Given the description of an element on the screen output the (x, y) to click on. 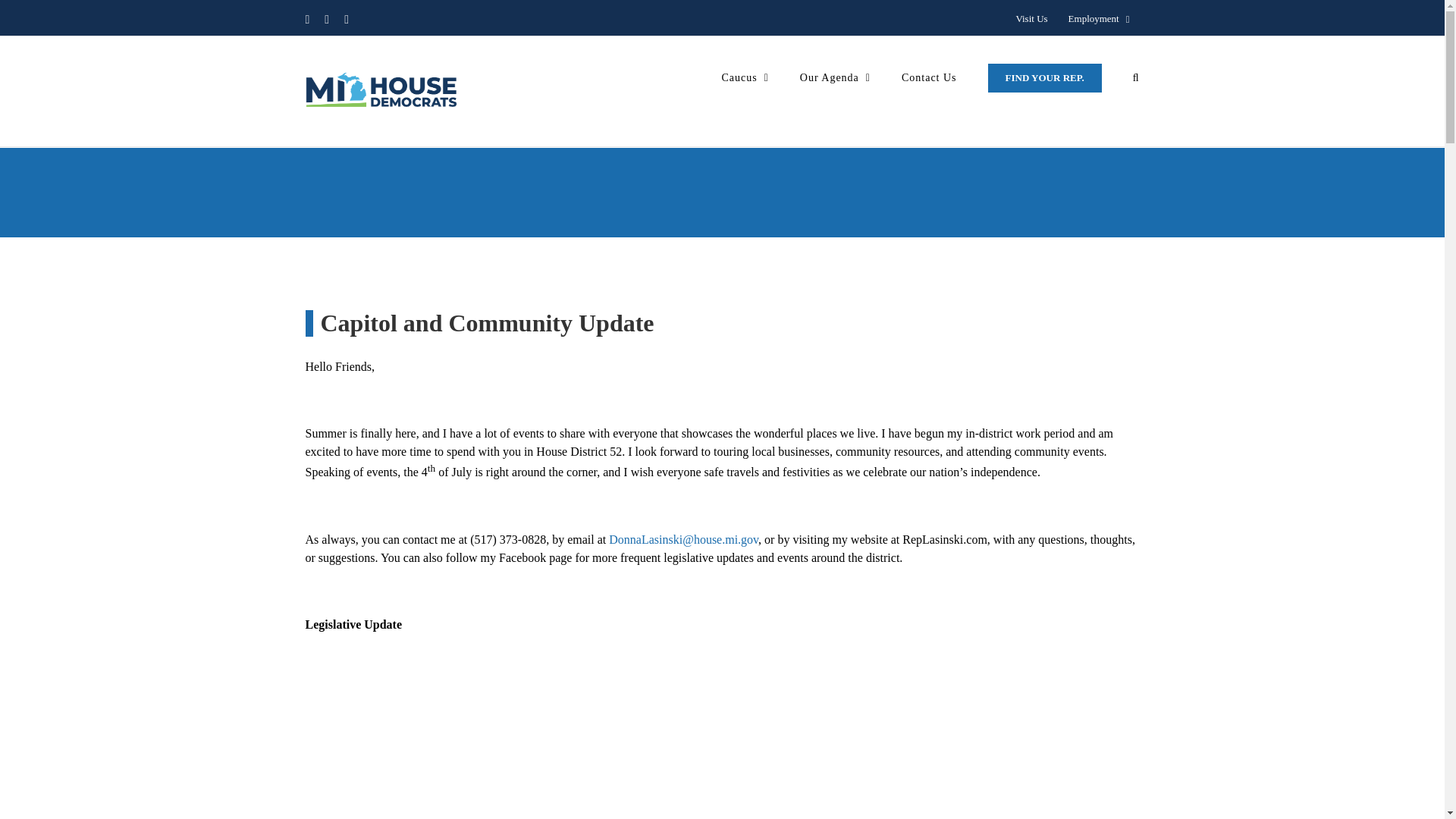
Our Agenda (834, 78)
Visit Us (1031, 19)
Employment (1099, 19)
FIND YOUR REP. (1045, 78)
